Given the description of an element on the screen output the (x, y) to click on. 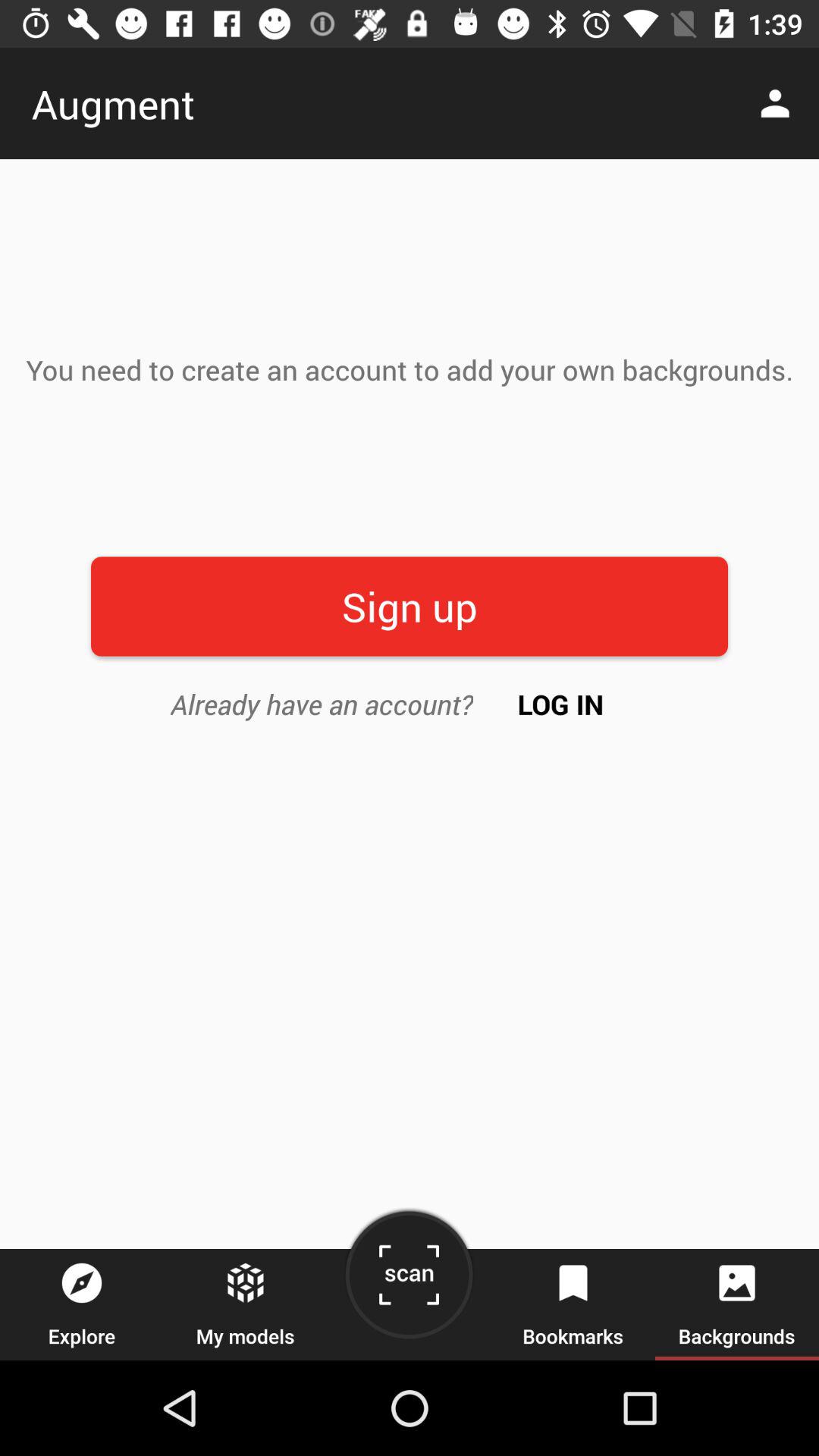
launch icon above the log in item (409, 606)
